Given the description of an element on the screen output the (x, y) to click on. 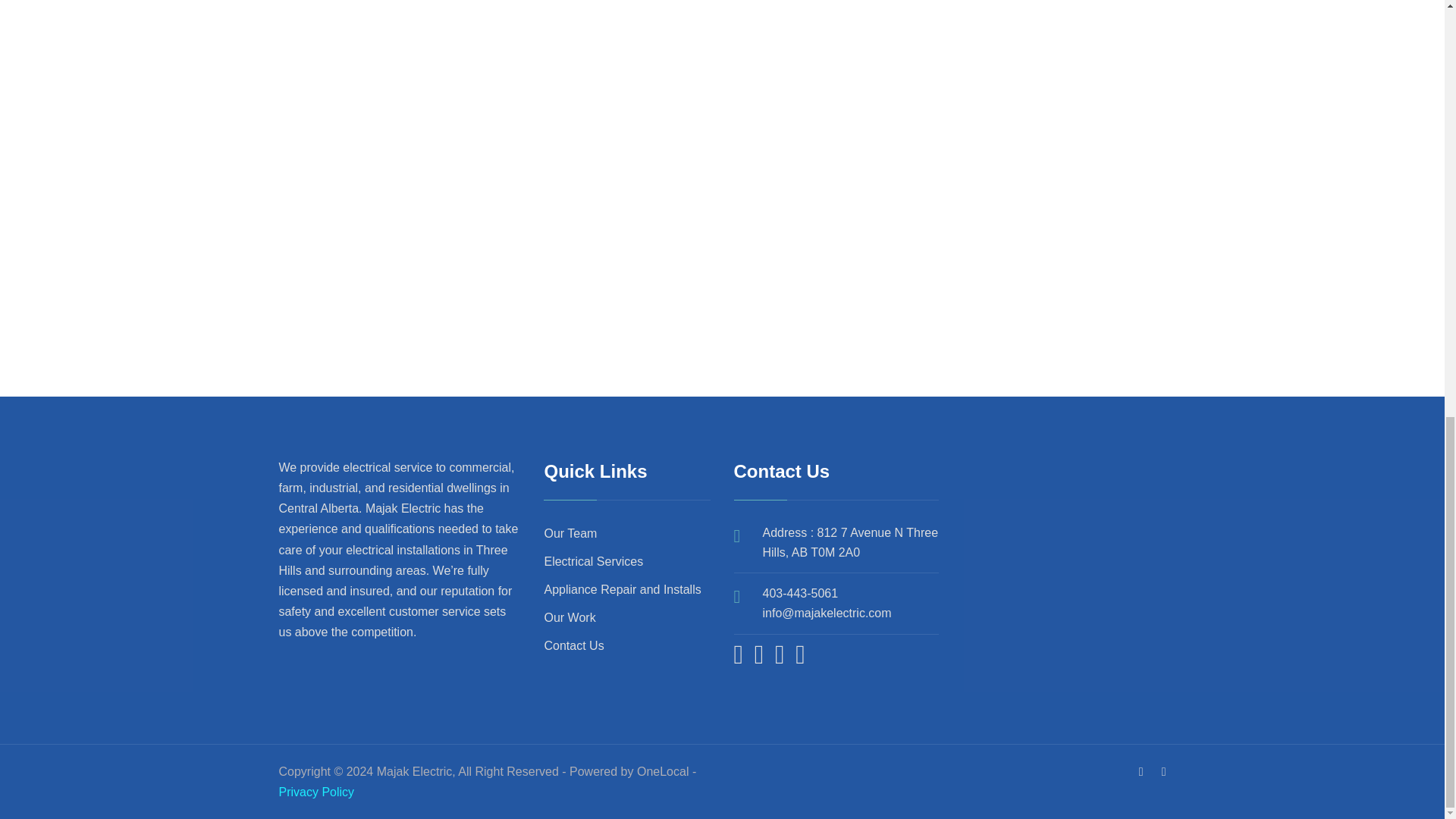
Contact Us (573, 645)
Our Team (569, 533)
403-443-5061 (800, 593)
Appliance Repair and Installs (621, 589)
Privacy Policy (317, 791)
Our Work (569, 617)
Electrical Services (593, 561)
